Given the description of an element on the screen output the (x, y) to click on. 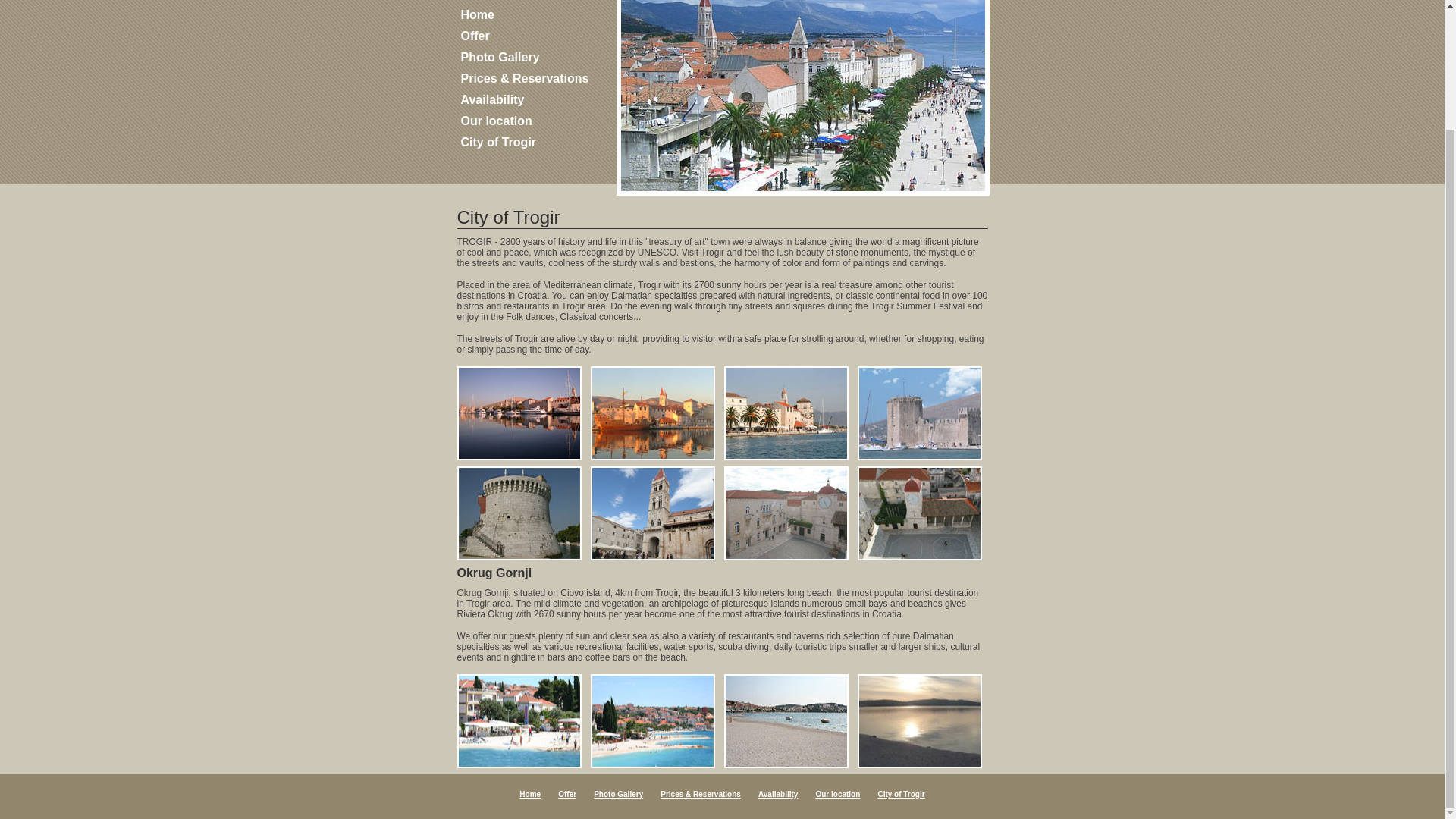
Home (478, 14)
Offer (566, 794)
Availability (777, 794)
Offer (475, 35)
City of Trogir (499, 141)
Home (529, 794)
City of Trogir (900, 794)
Our location (837, 794)
Availability (492, 99)
Photo Gallery (618, 794)
Our location (496, 120)
Photo Gallery (500, 56)
